Given the description of an element on the screen output the (x, y) to click on. 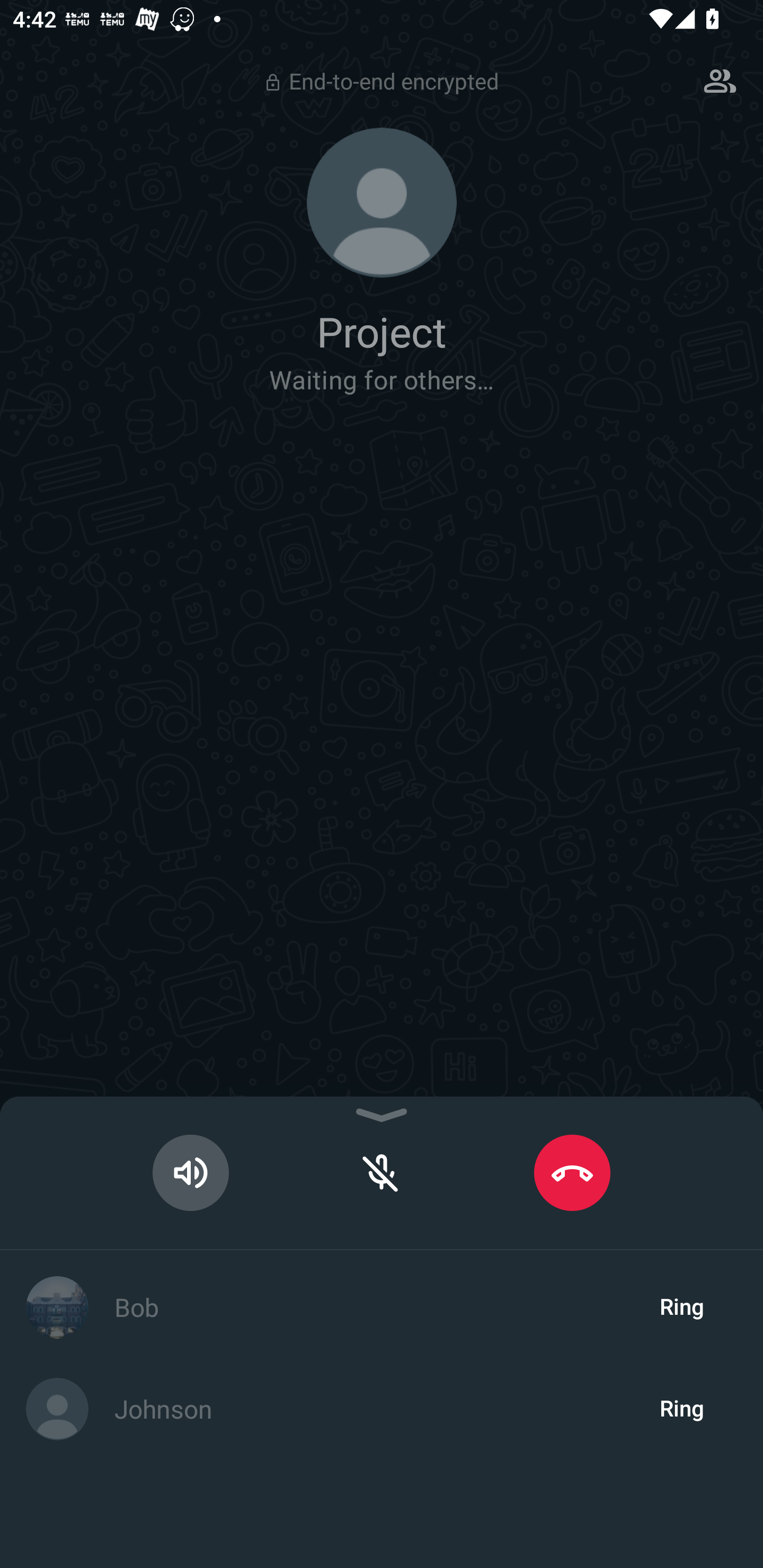
Turn speaker phone off (190, 1172)
Mute microphone (381, 1172)
Leave call (572, 1172)
RING (681, 1307)
RING (681, 1408)
